Given the description of an element on the screen output the (x, y) to click on. 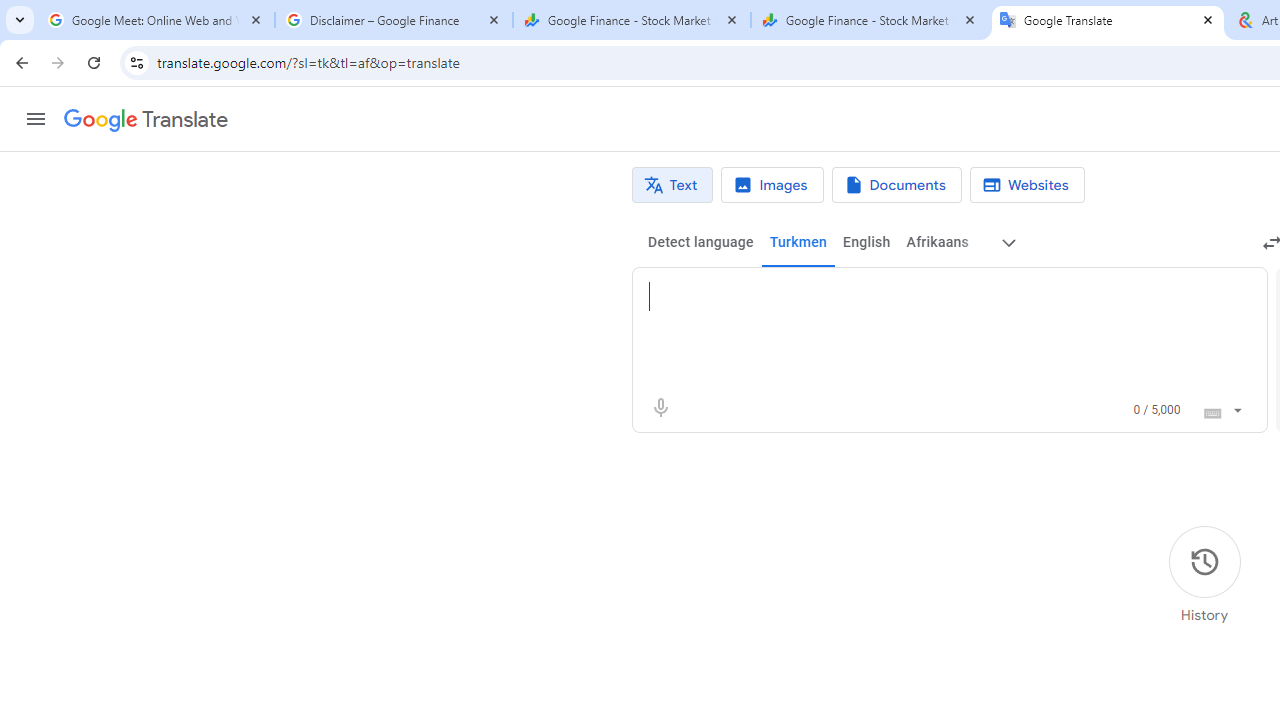
Translate by voice (660, 407)
Afrikaans (937, 242)
Website translation (1026, 185)
Document translation (896, 185)
Detect language (699, 242)
Google Translate (145, 120)
Image translation (772, 185)
